Given the description of an element on the screen output the (x, y) to click on. 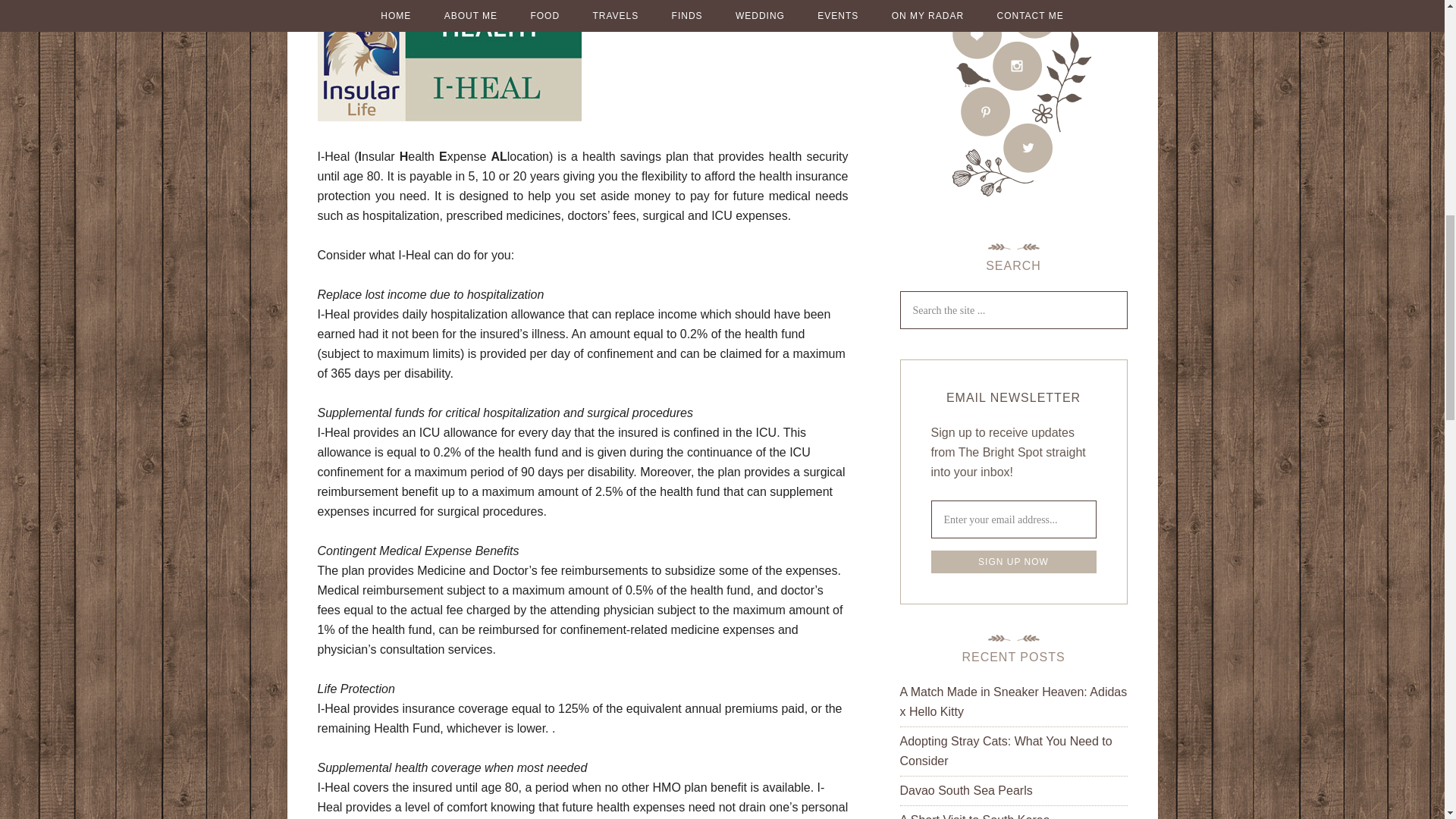
Davao South Sea Pearls (965, 789)
A Short Visit to South Korea (974, 816)
Sign Up Now (1013, 561)
A Match Made in Sneaker Heaven: Adidas x Hello Kitty (1012, 701)
Adopting Stray Cats: What You Need to Consider (1005, 750)
Sign Up Now (1013, 561)
